Given the description of an element on the screen output the (x, y) to click on. 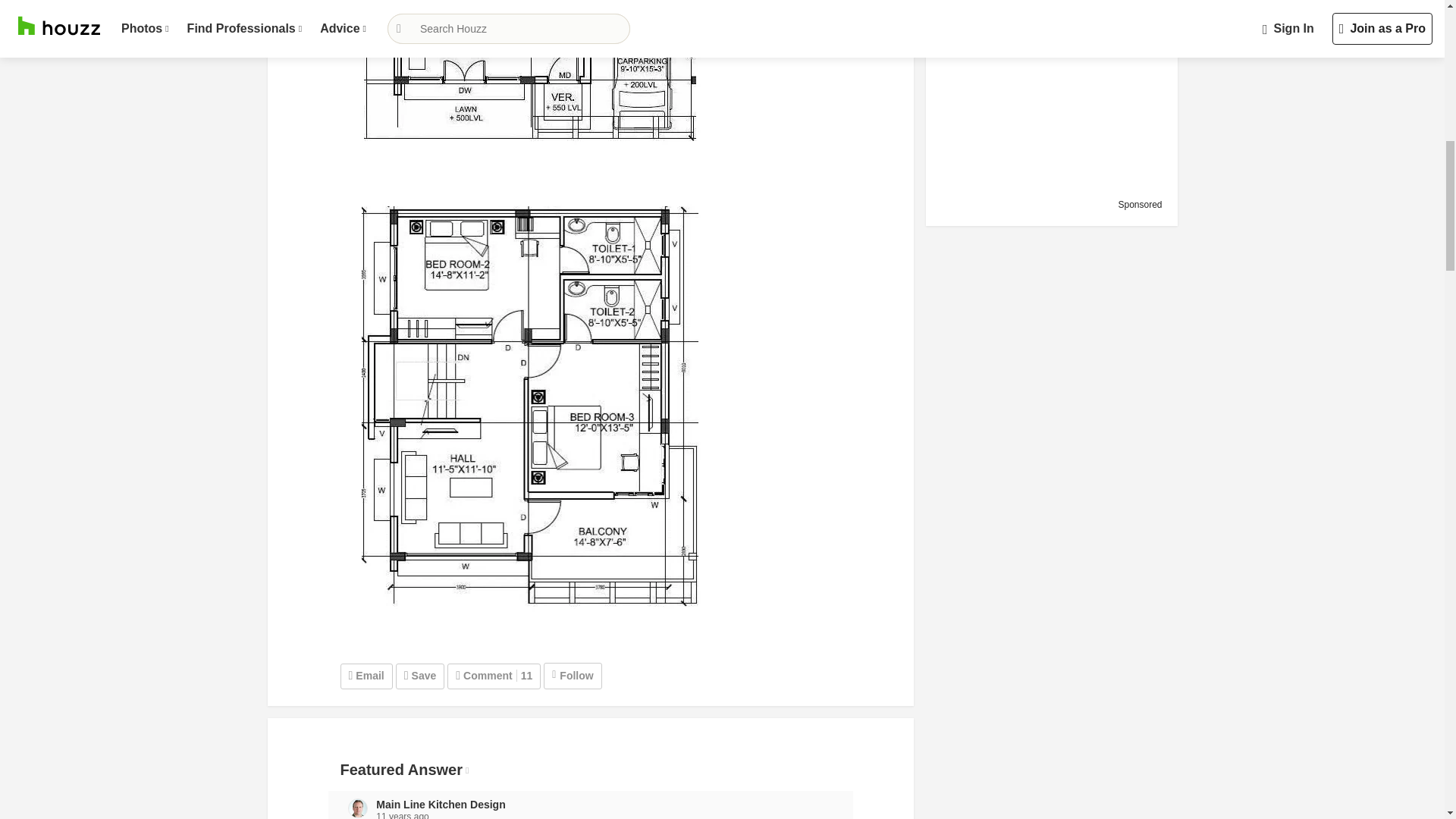
brand ad (1047, 92)
